Given the description of an element on the screen output the (x, y) to click on. 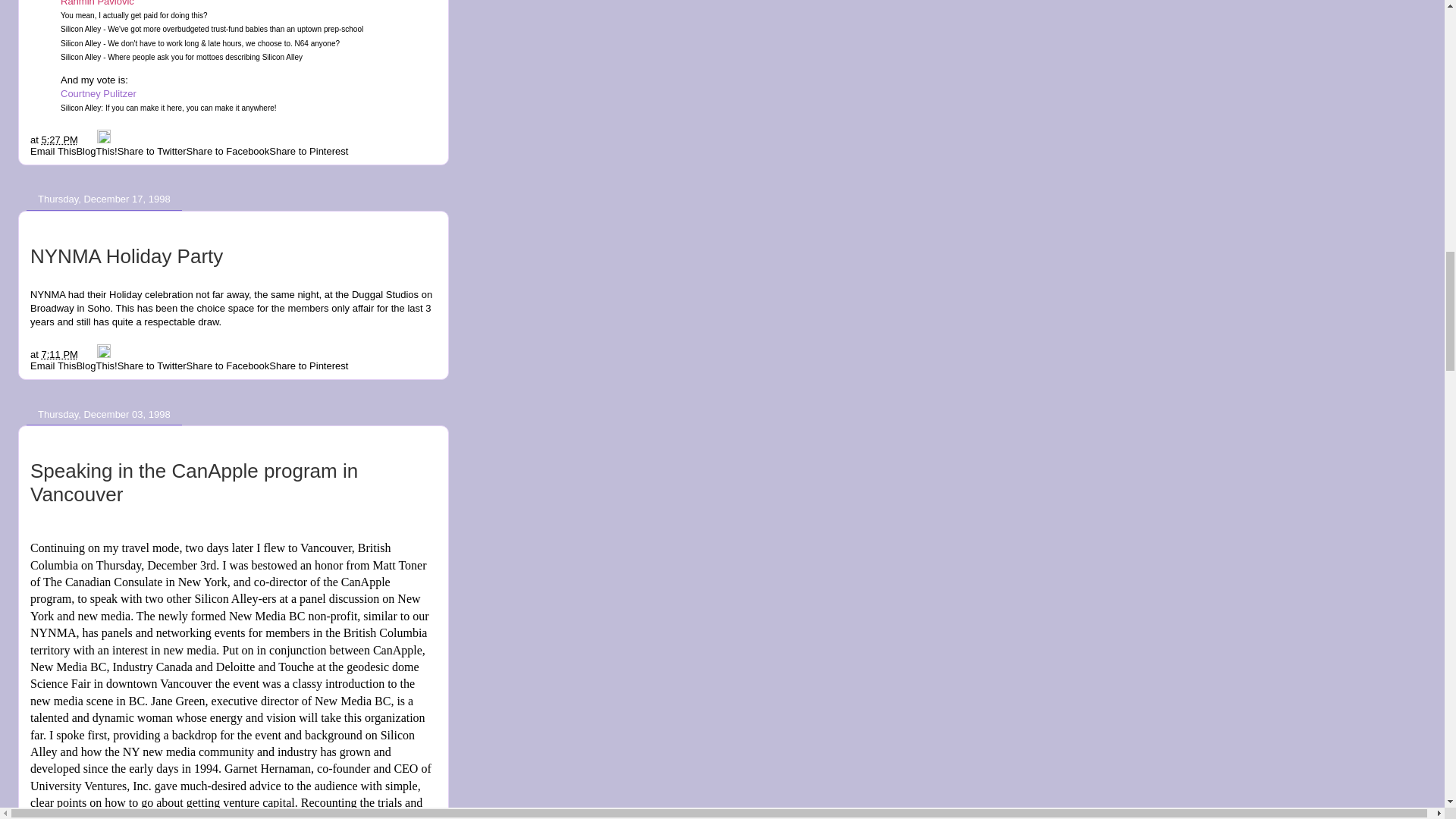
Share to Facebook (227, 151)
BlogThis! (95, 151)
Share to Pinterest (308, 365)
Share to Facebook (227, 365)
BlogThis! (95, 365)
Email This (52, 365)
Speaking in the CanApple program in Vancouver (194, 482)
Share to Facebook (227, 151)
Email Post (89, 139)
Share to Twitter (151, 365)
BlogThis! (95, 365)
Share to Pinterest (308, 151)
Edit Post (103, 354)
Share to Pinterest (308, 151)
5:27 PM (58, 139)
